Given the description of an element on the screen output the (x, y) to click on. 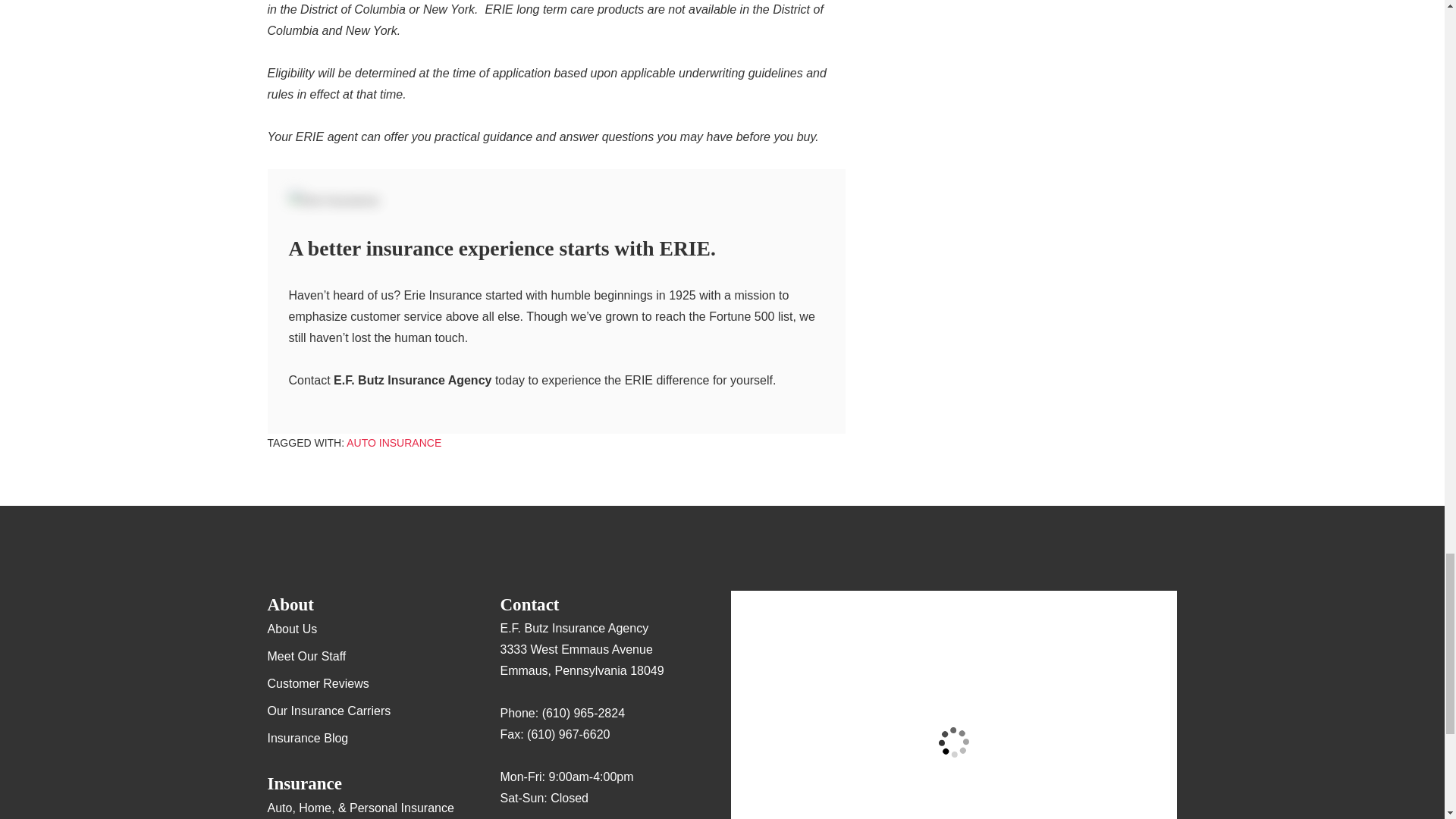
Auto Insurance (393, 442)
